Given the description of an element on the screen output the (x, y) to click on. 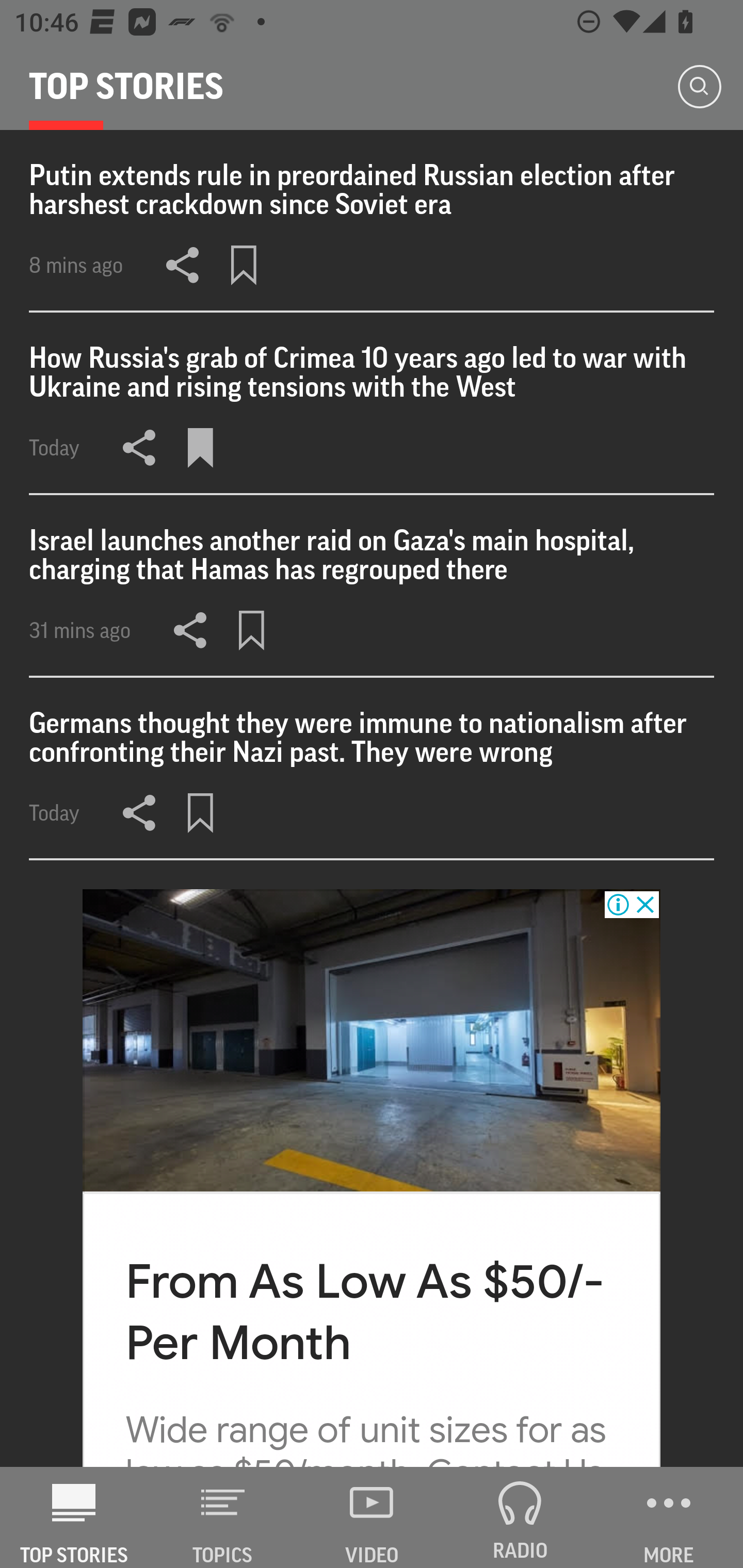
AP News TOP STORIES (74, 1517)
TOPICS (222, 1517)
VIDEO (371, 1517)
RADIO (519, 1517)
MORE (668, 1517)
